Given the description of an element on the screen output the (x, y) to click on. 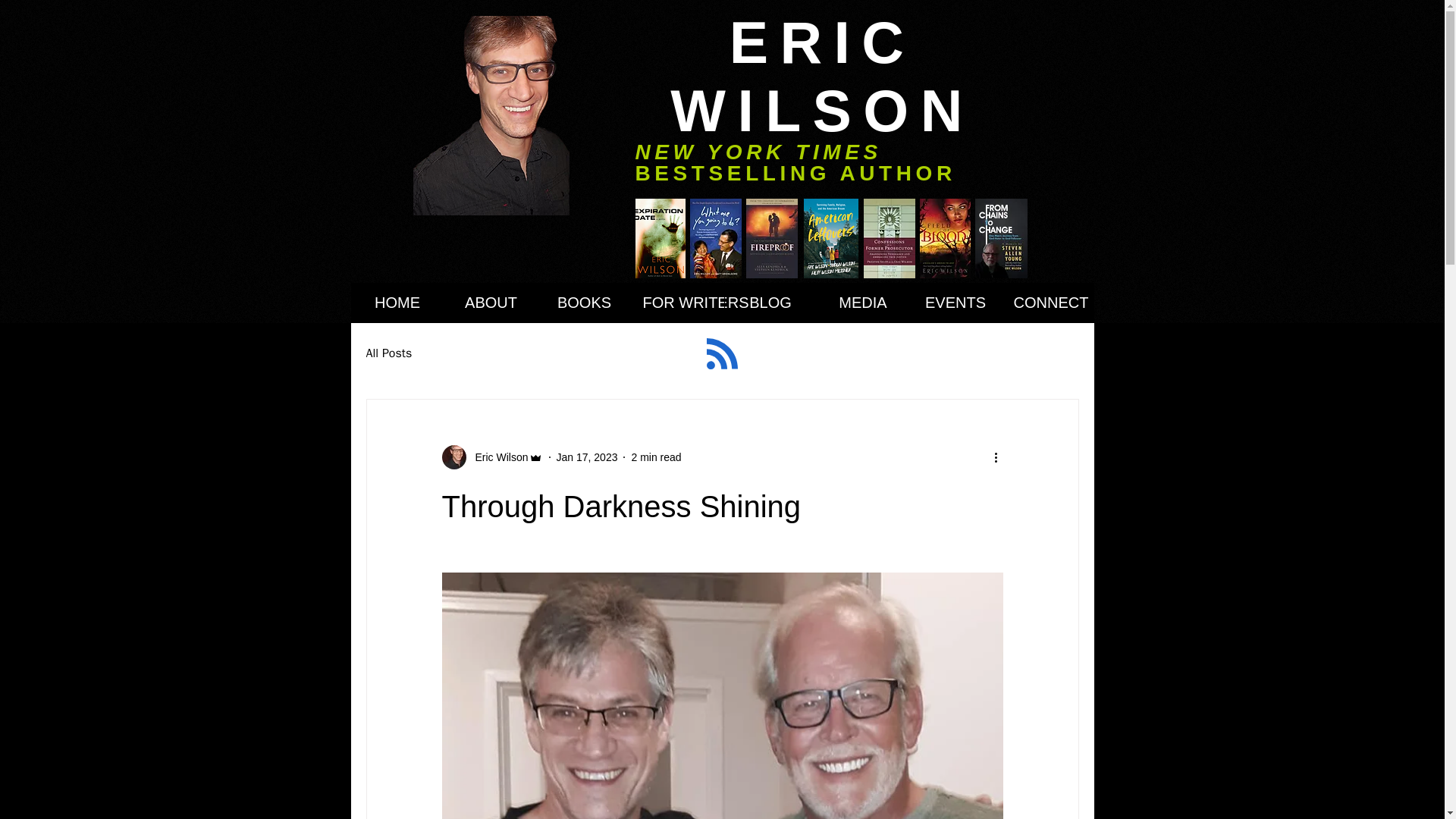
ABOUT (490, 302)
BOOKS (583, 302)
BLOG (769, 302)
Jan 17, 2023 (586, 456)
HOME (397, 302)
2 min read (655, 456)
CONNECT (1047, 302)
FOR WRITERS (676, 302)
All Posts (388, 353)
MEDIA (861, 302)
